Given the description of an element on the screen output the (x, y) to click on. 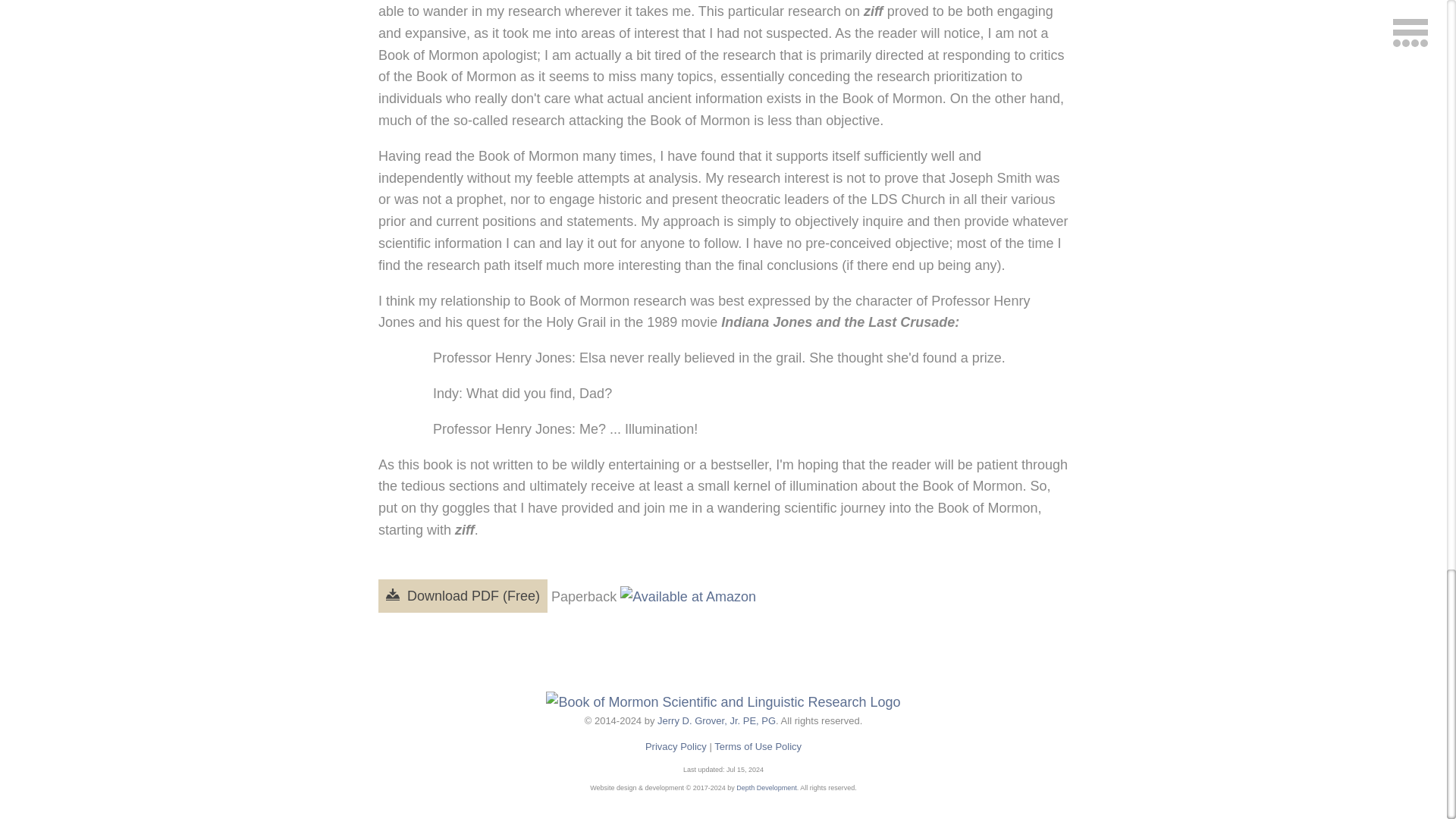
Privacy Policy (675, 746)
Depth Development (766, 787)
Terms of Use Policy (758, 746)
Jerry D. Grover, Jr. PE, PG (717, 720)
Paperback (653, 596)
